Given the description of an element on the screen output the (x, y) to click on. 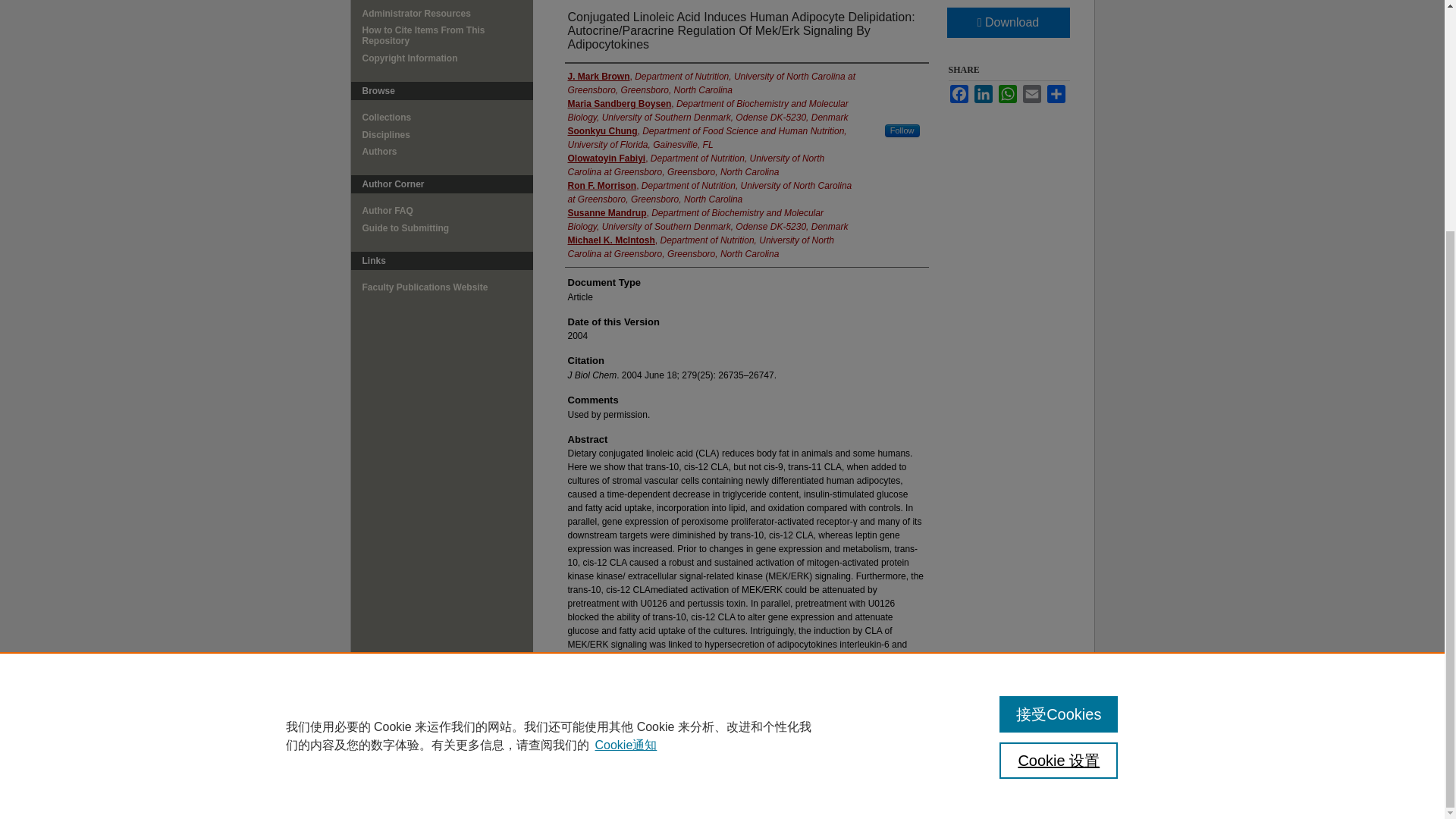
Email (1031, 94)
Browse by Collections (447, 117)
Follow (902, 130)
WhatsApp (1006, 94)
Follow Soonkyu Chung (902, 130)
Facebook (958, 94)
Download (1007, 22)
LinkedIn (982, 94)
